Given the description of an element on the screen output the (x, y) to click on. 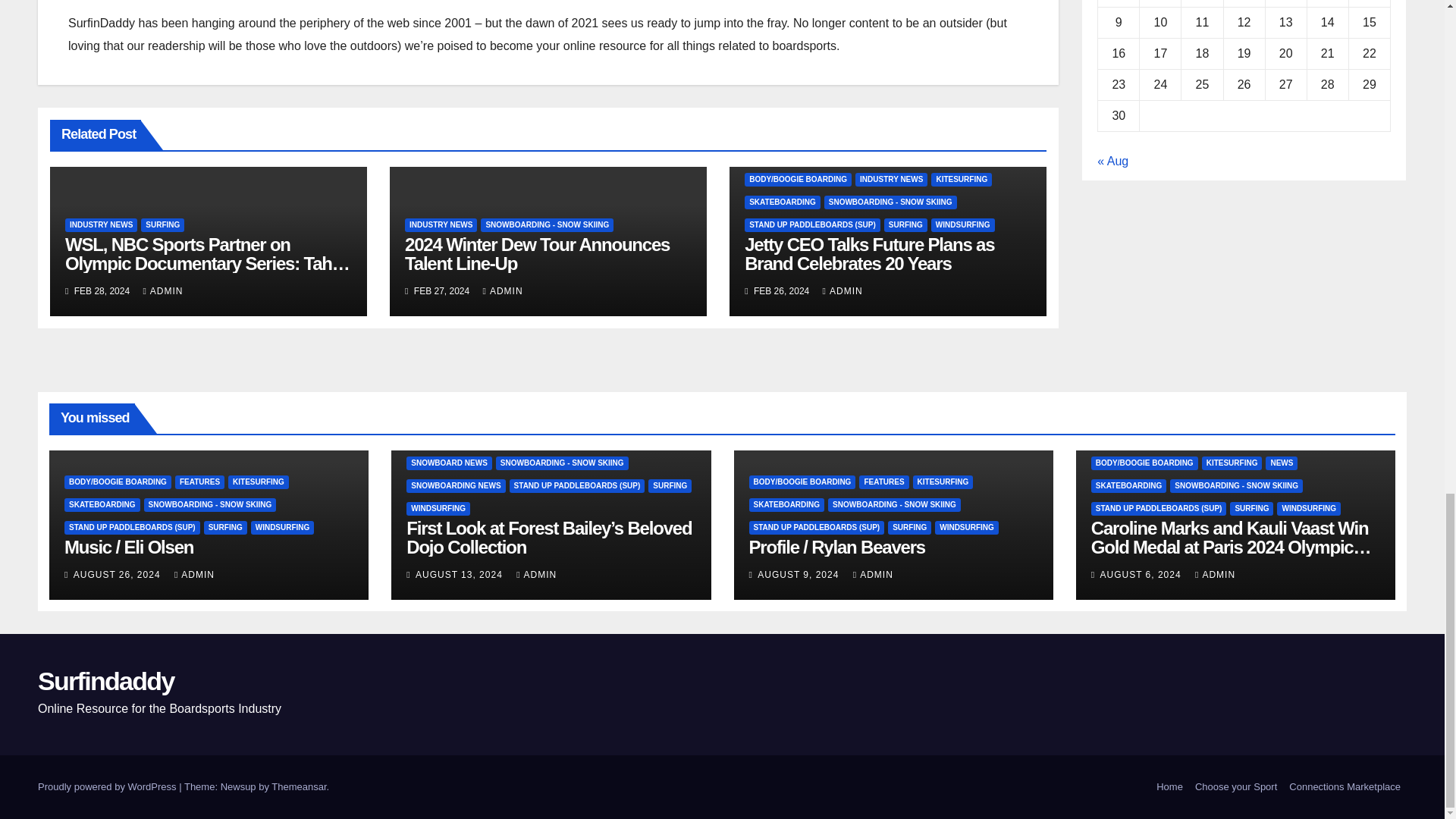
ADMIN (162, 290)
Permalink to: 2024 Winter Dew Tour Announces Talent Line-Up (536, 253)
SURFING (162, 224)
INDUSTRY NEWS (100, 224)
